Given the description of an element on the screen output the (x, y) to click on. 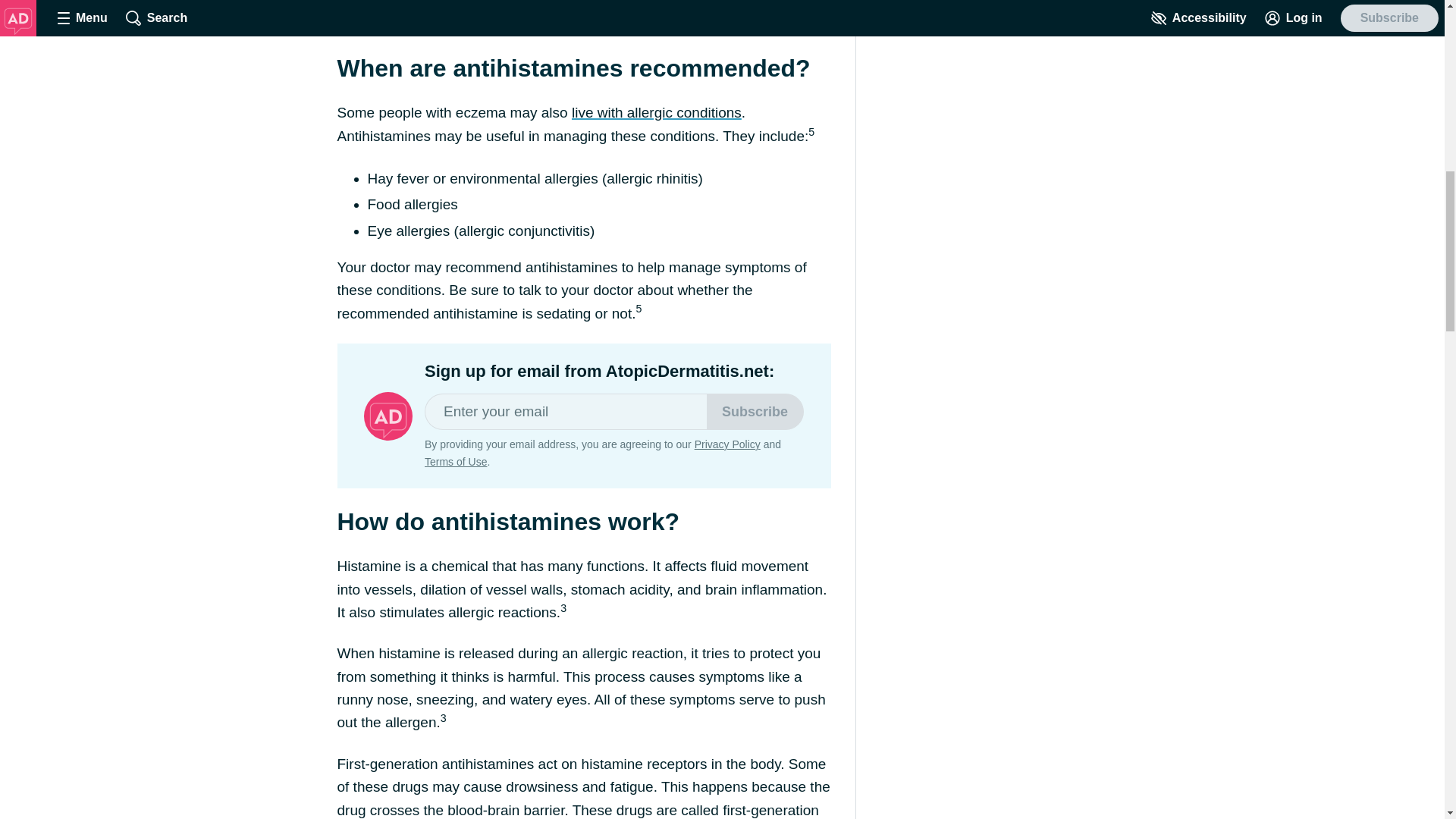
Privacy Policy (727, 444)
Subscribe (754, 411)
live with allergic conditions (656, 112)
Terms of Use (455, 461)
